Given the description of an element on the screen output the (x, y) to click on. 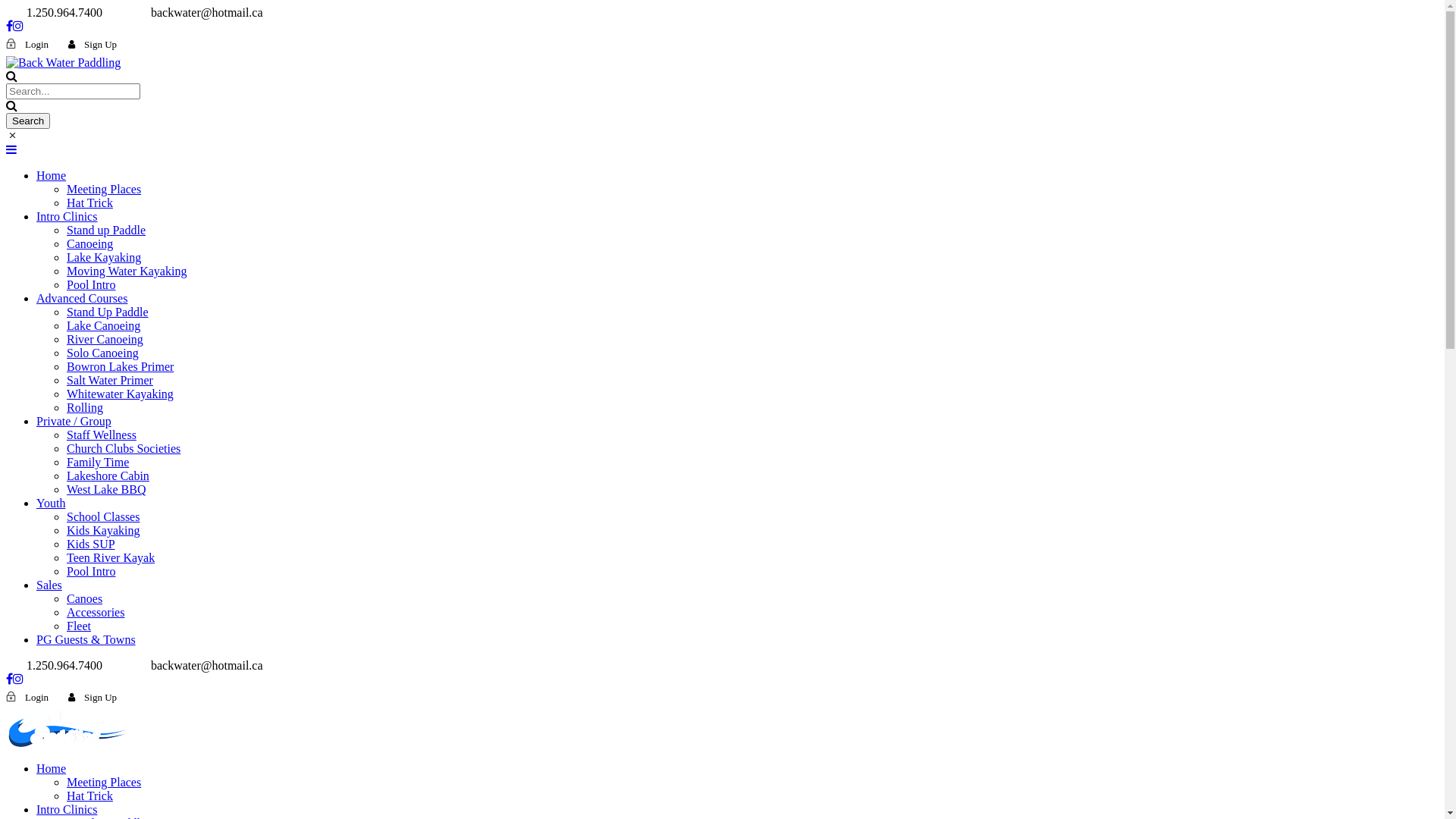
Stand Up Paddle Element type: text (107, 311)
Private / Group Element type: text (73, 420)
Moving Water Kayaking Element type: text (126, 270)
Bowron Lakes Primer Element type: text (119, 366)
Stand up Paddle Element type: text (105, 229)
School Classes Element type: text (102, 516)
Home Element type: text (50, 768)
River Canoeing Element type: text (104, 338)
West Lake BBQ Element type: text (105, 489)
Sales Element type: text (49, 584)
Church Clubs Societies Element type: text (123, 448)
Rolling Element type: text (84, 407)
Meeting Places Element type: text (103, 781)
facebook Element type: hover (9, 25)
Teen River Kayak Element type: text (110, 557)
Staff Wellness Element type: text (101, 434)
Pool Intro Element type: text (90, 570)
instagram Element type: hover (17, 25)
Lake Canoeing Element type: text (103, 325)
Intro Clinics Element type: text (66, 809)
Accessories Element type: text (95, 611)
facebook Element type: hover (9, 678)
instagram Element type: hover (17, 678)
Salt Water Primer Element type: text (109, 379)
Kids Kayaking Element type: text (102, 530)
Home Element type: text (50, 175)
Kids SUP Element type: text (90, 543)
Pool Intro Element type: text (90, 284)
Hat Trick Element type: text (89, 795)
Whitewater Kayaking Element type: text (119, 393)
Lakeshore Cabin Element type: text (107, 475)
PG Guests & Towns Element type: text (85, 639)
Hat Trick Element type: text (89, 202)
Solo Canoeing Element type: text (102, 352)
Canoes Element type: text (84, 598)
Advanced Courses Element type: text (81, 297)
Family Time Element type: text (97, 461)
Intro Clinics Element type: text (66, 216)
Fleet Element type: text (78, 625)
Lake Kayaking Element type: text (103, 257)
Canoeing Element type: text (89, 243)
Meeting Places Element type: text (103, 188)
Youth Element type: text (50, 502)
Search Element type: text (28, 120)
